Given the description of an element on the screen output the (x, y) to click on. 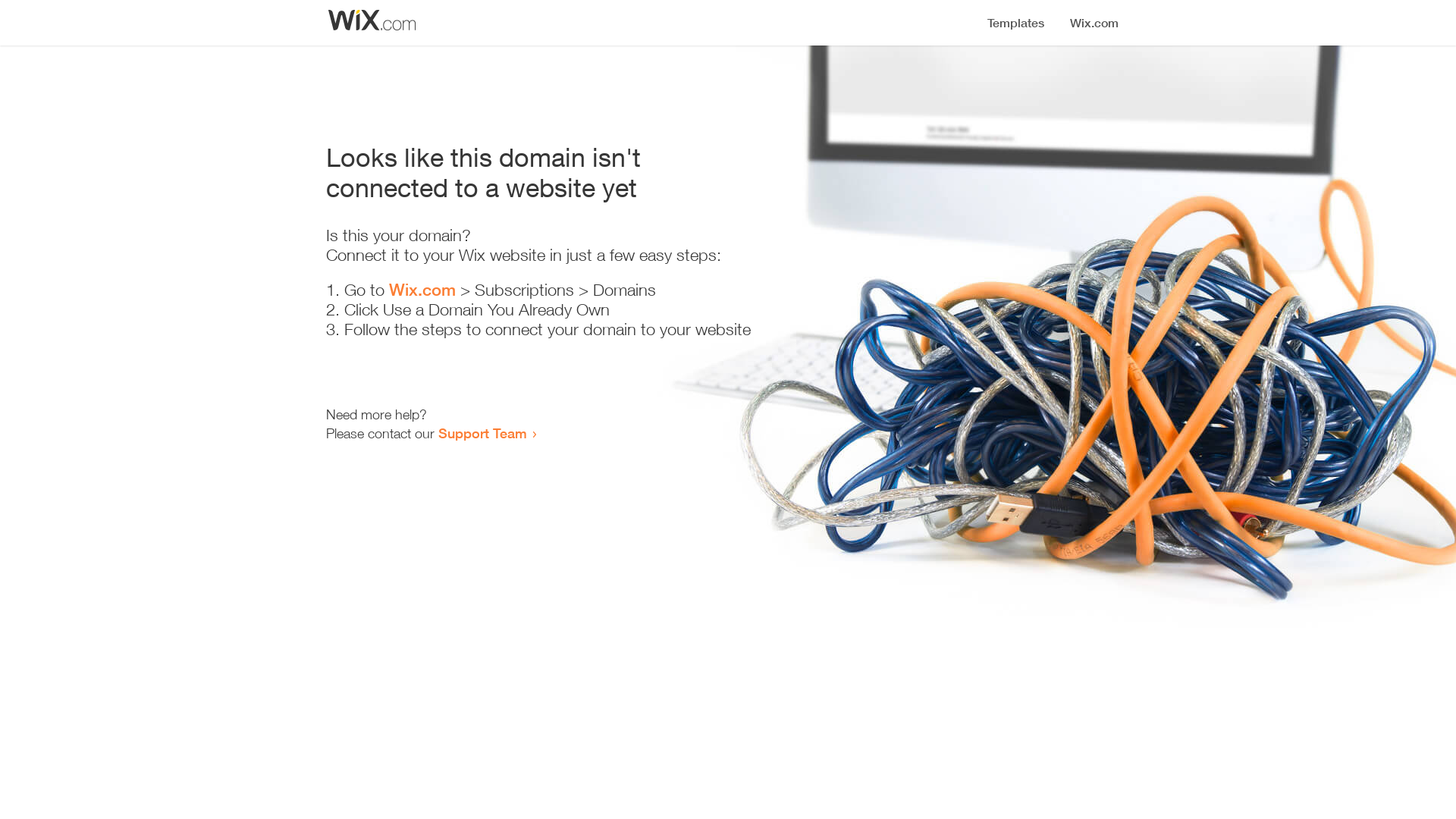
Wix.com Element type: text (422, 289)
Support Team Element type: text (482, 432)
